Given the description of an element on the screen output the (x, y) to click on. 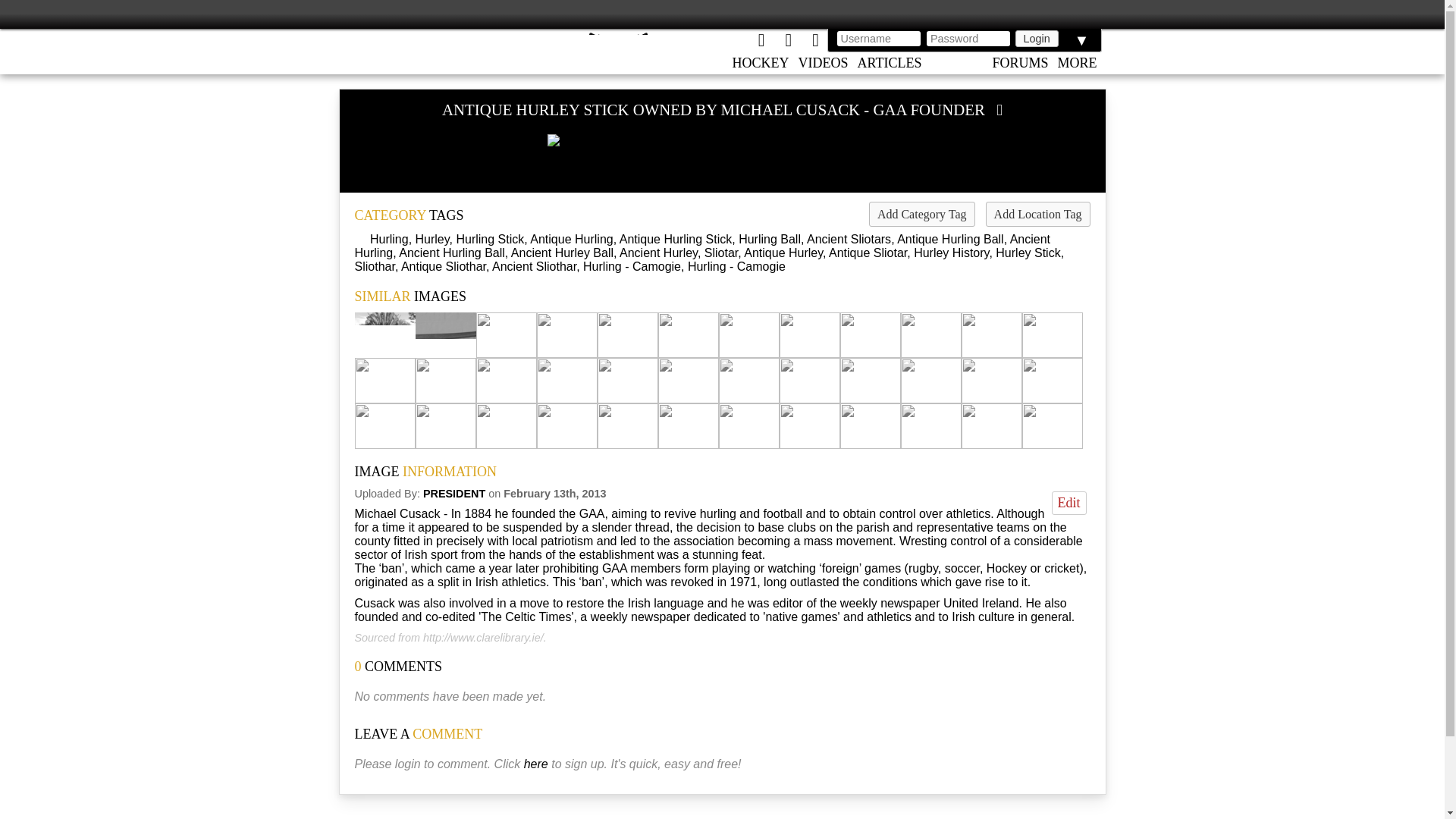
HOCKEY (760, 63)
Login (1036, 38)
Login (1036, 38)
